Given the description of an element on the screen output the (x, y) to click on. 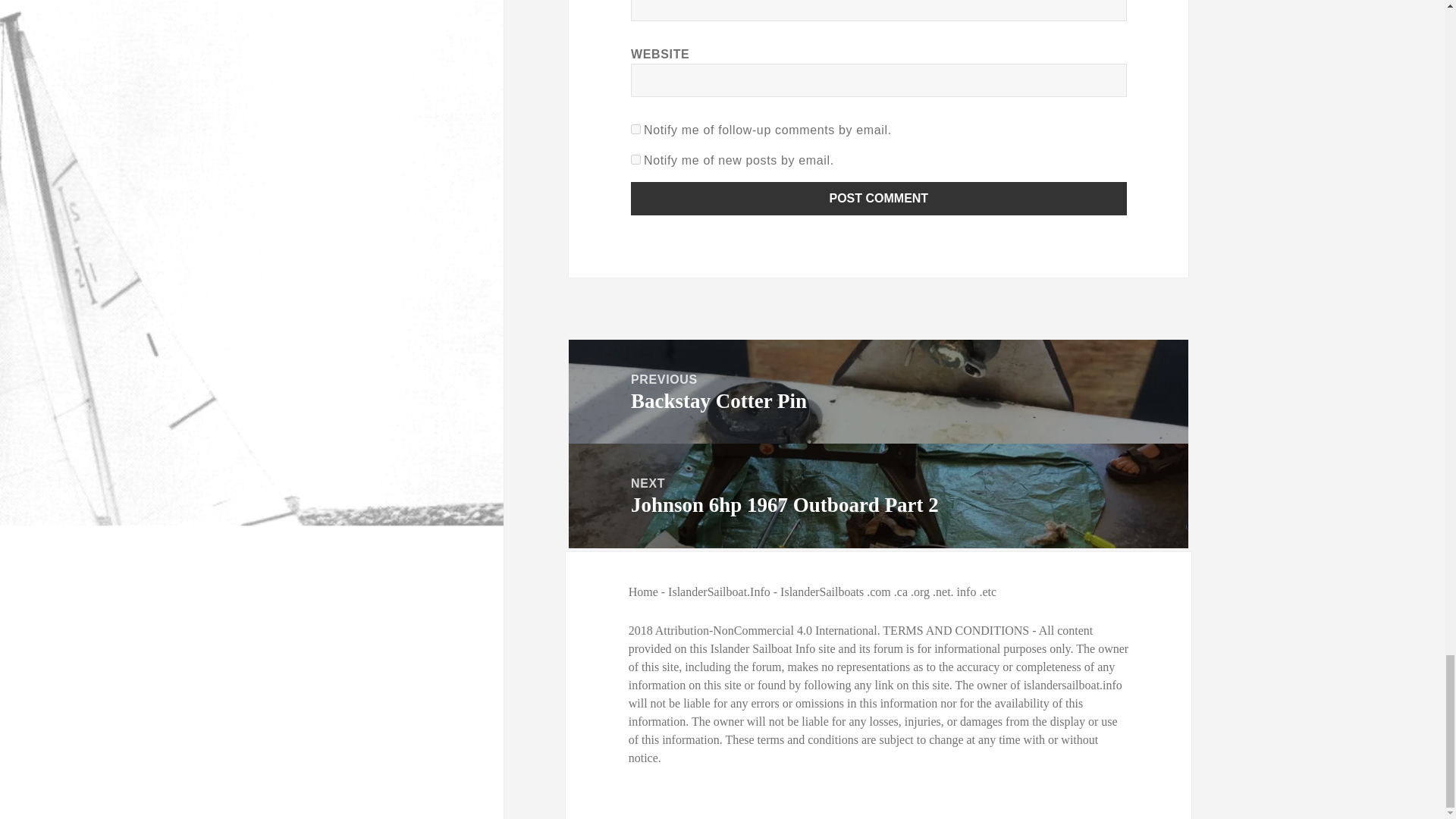
subscribe (635, 159)
subscribe (635, 129)
Post Comment (878, 198)
